Given the description of an element on the screen output the (x, y) to click on. 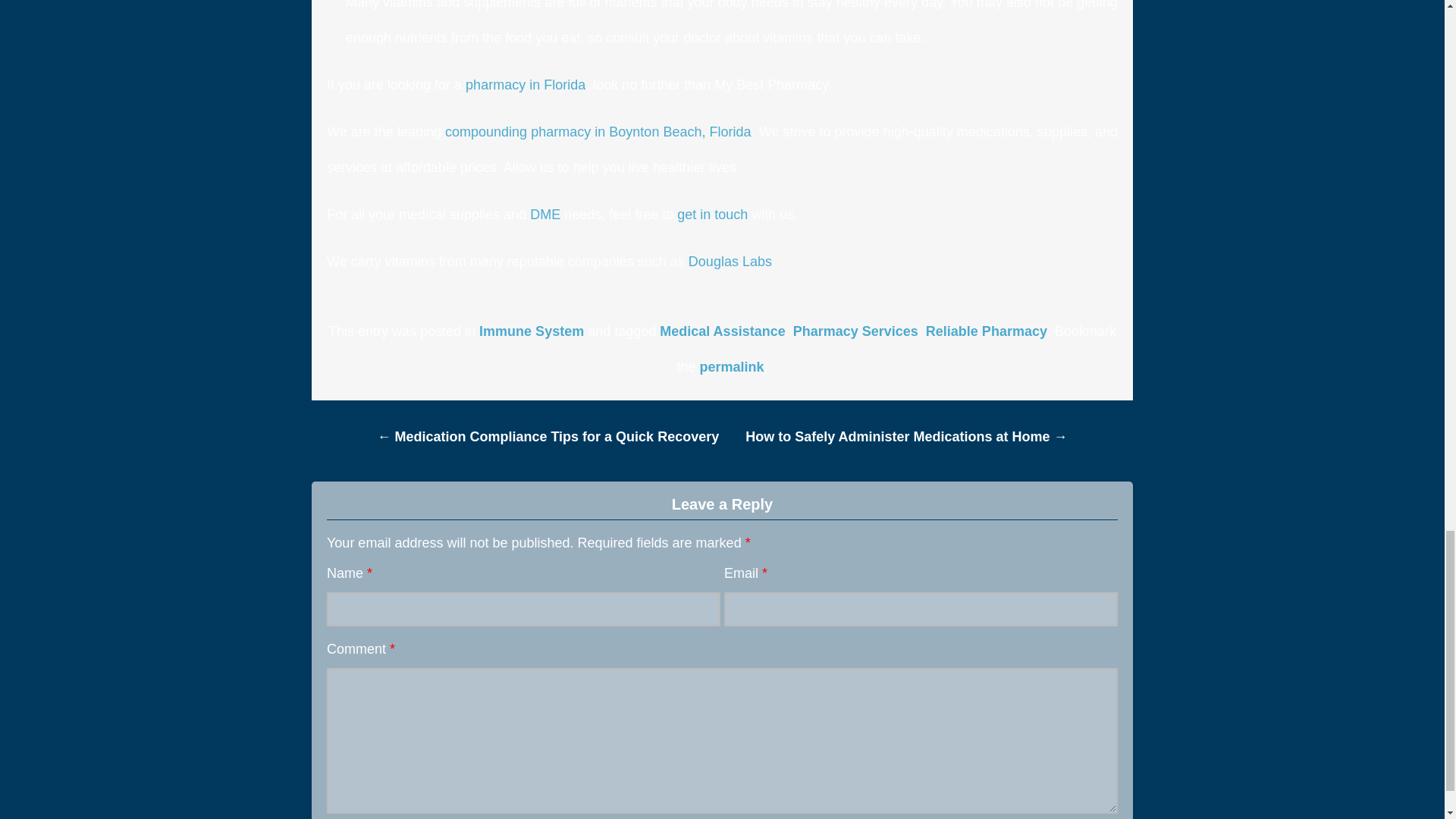
permalink (730, 366)
Reliable Pharmacy (986, 331)
get in touch (712, 214)
compounding pharmacy in Boynton Beach, Florida (598, 131)
Pharmacy Services (855, 331)
pharmacy in Florida (525, 84)
Permalink to Top Tips to Help Boost the Immune System (730, 366)
DME (544, 214)
Douglas Labs (729, 261)
Immune System (531, 331)
